Given the description of an element on the screen output the (x, y) to click on. 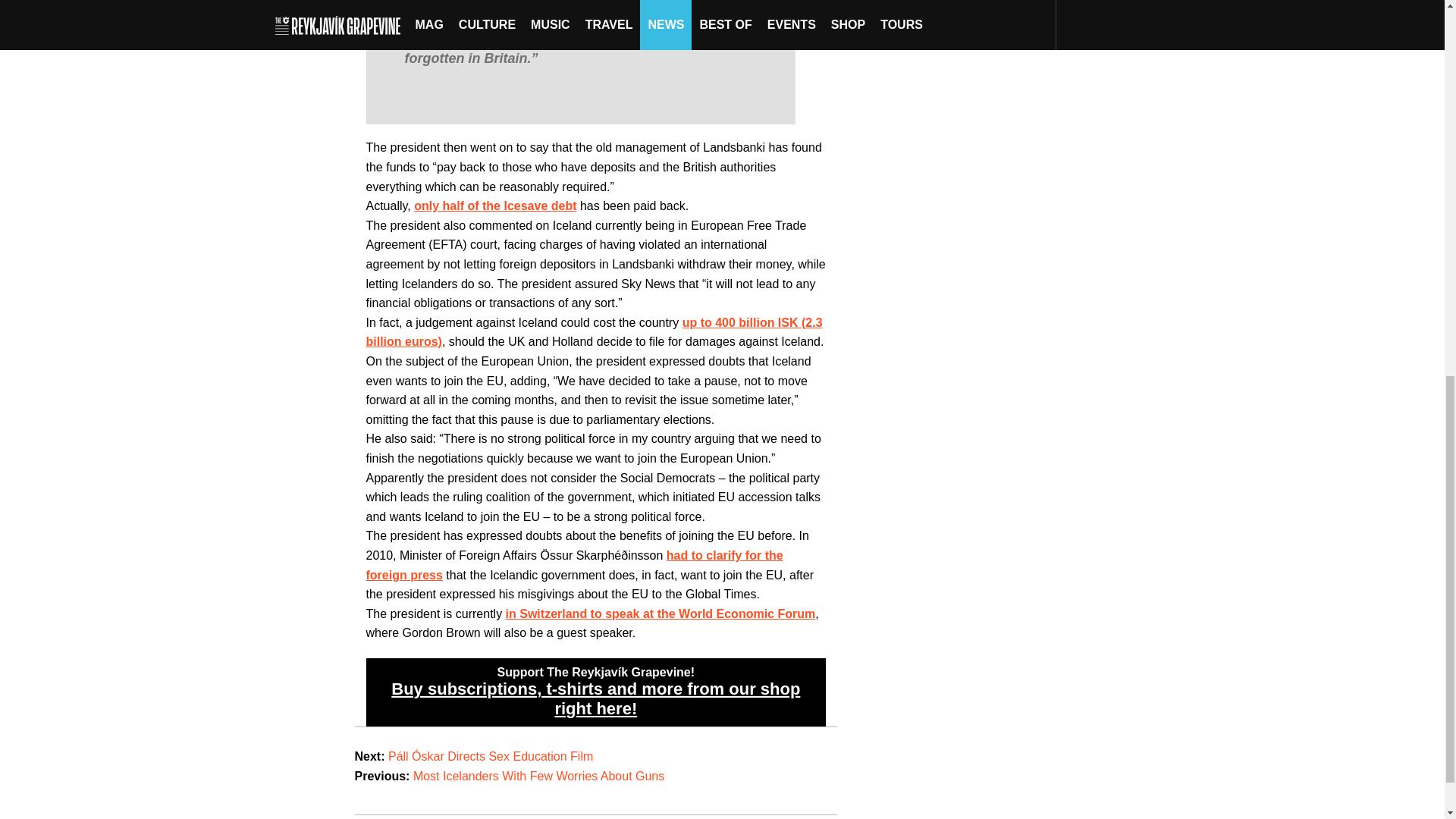
in Switzerland to speak at the World Economic Forum (660, 613)
had to clarify for the foreign press (574, 564)
Most Icelanders With Few Worries About Guns (538, 775)
only half of the Icesave debt (494, 205)
